Given the description of an element on the screen output the (x, y) to click on. 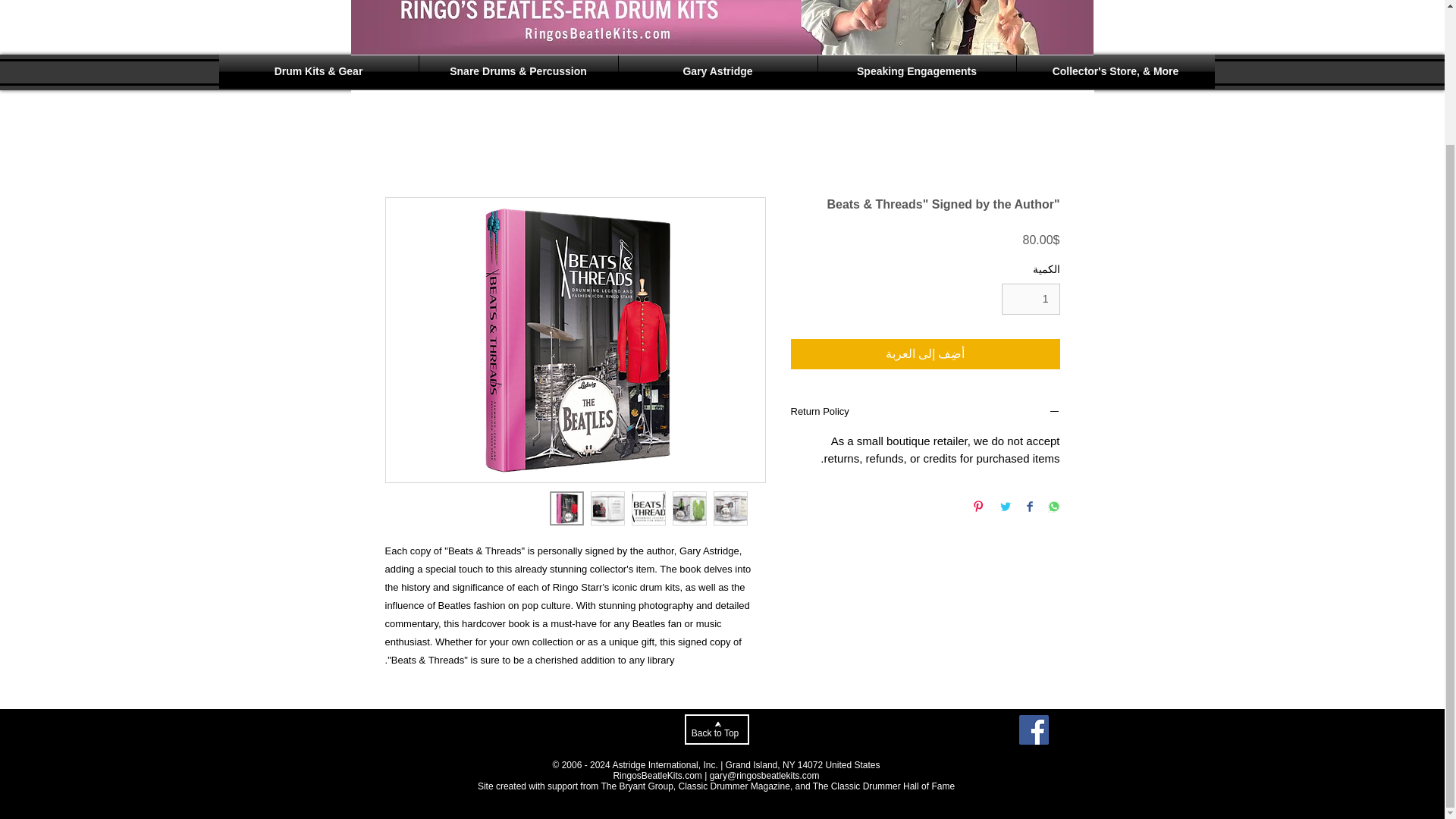
Speaking Engagements (915, 71)
Gary Astridge (717, 71)
1 (1030, 298)
Return Policy (924, 412)
Back to Top (716, 729)
